Given the description of an element on the screen output the (x, y) to click on. 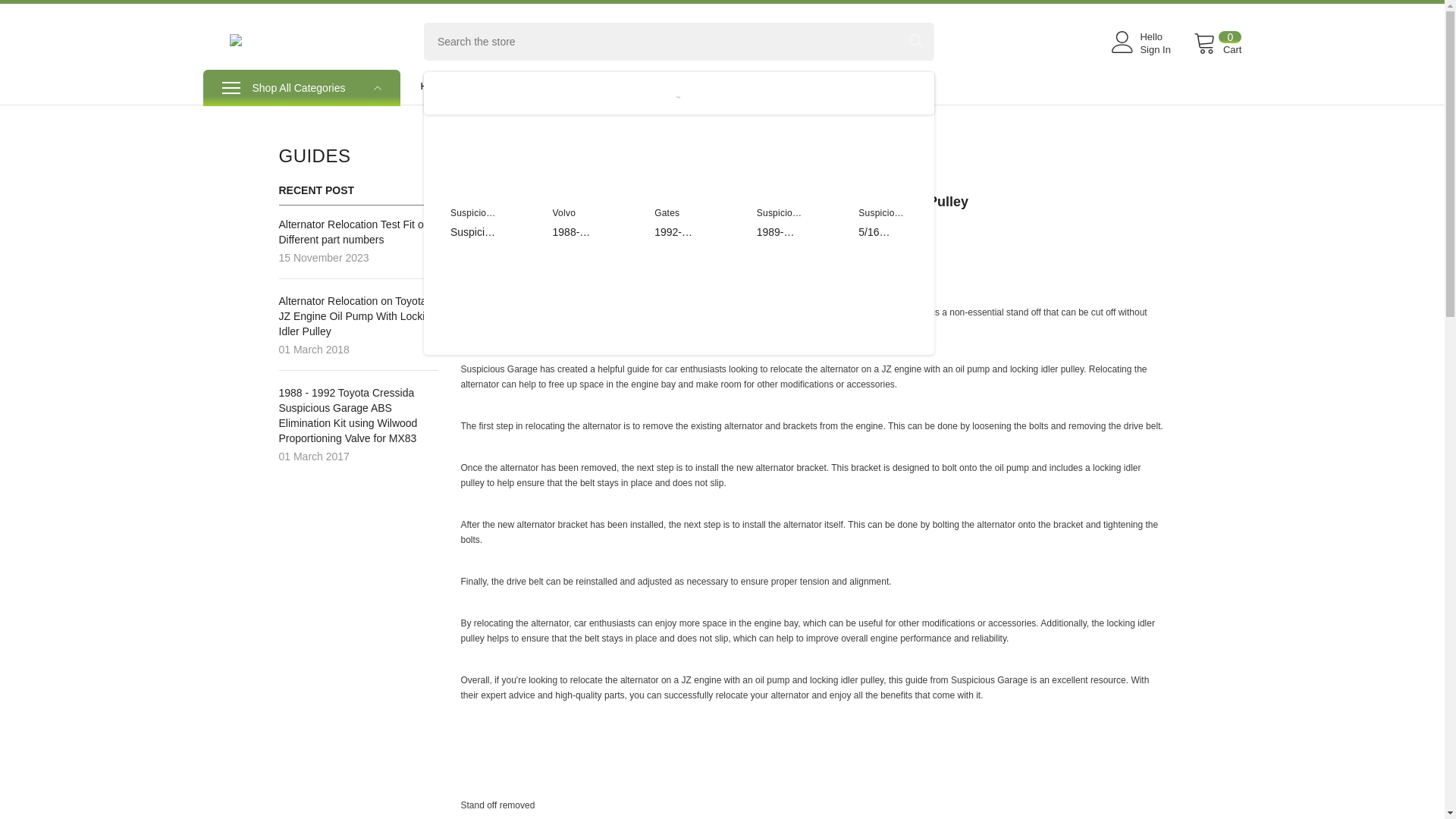
Suspicious Garage (779, 220)
volvo (564, 213)
Suspicious Garage (779, 220)
Volvo (564, 213)
Suspicious Garage (881, 220)
Suspicious Garage (472, 220)
Gates (666, 213)
Suspicious Garage (881, 220)
Gates (666, 213)
